Given the description of an element on the screen output the (x, y) to click on. 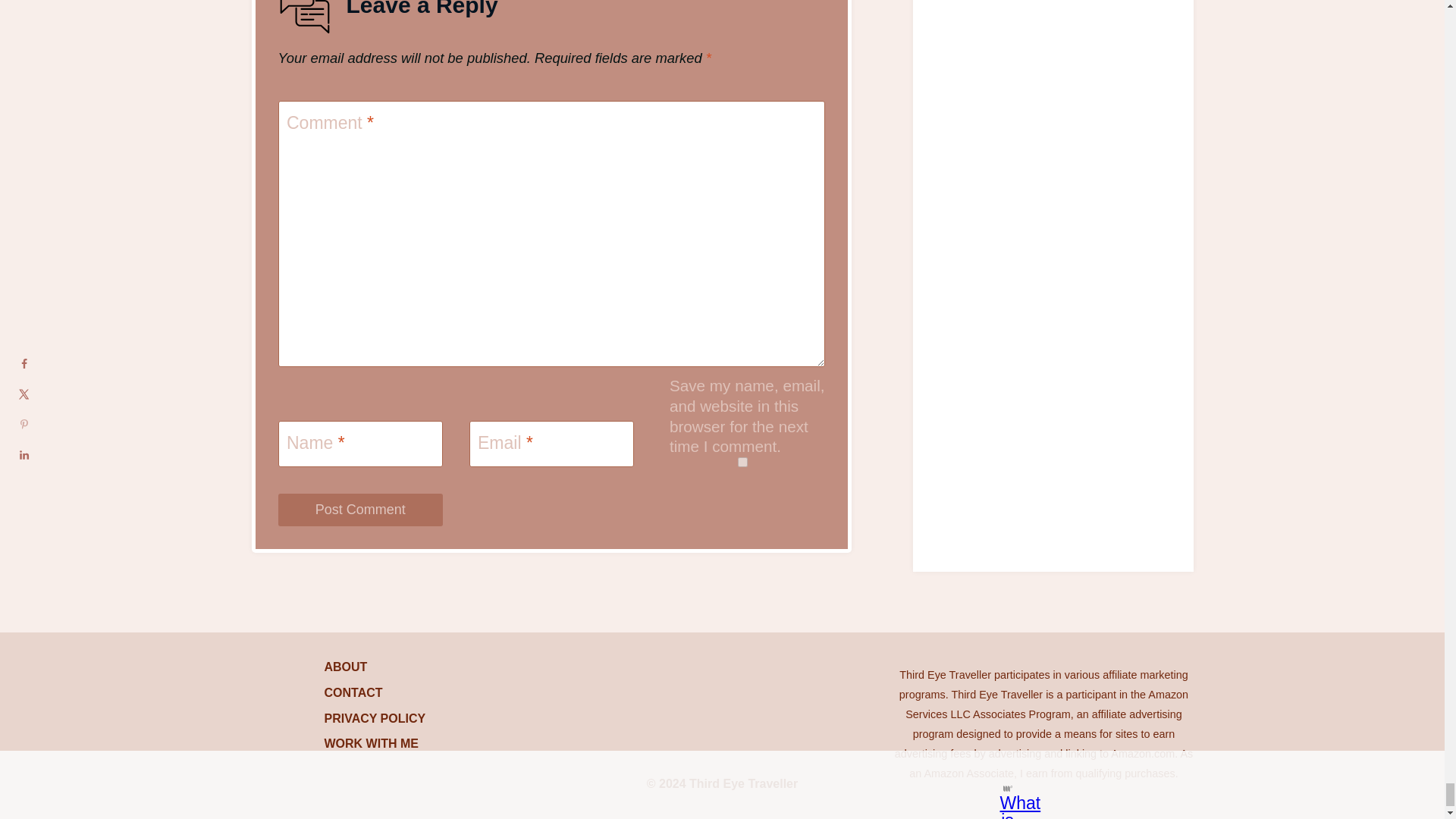
Post Comment (360, 509)
yes (742, 461)
